Given the description of an element on the screen output the (x, y) to click on. 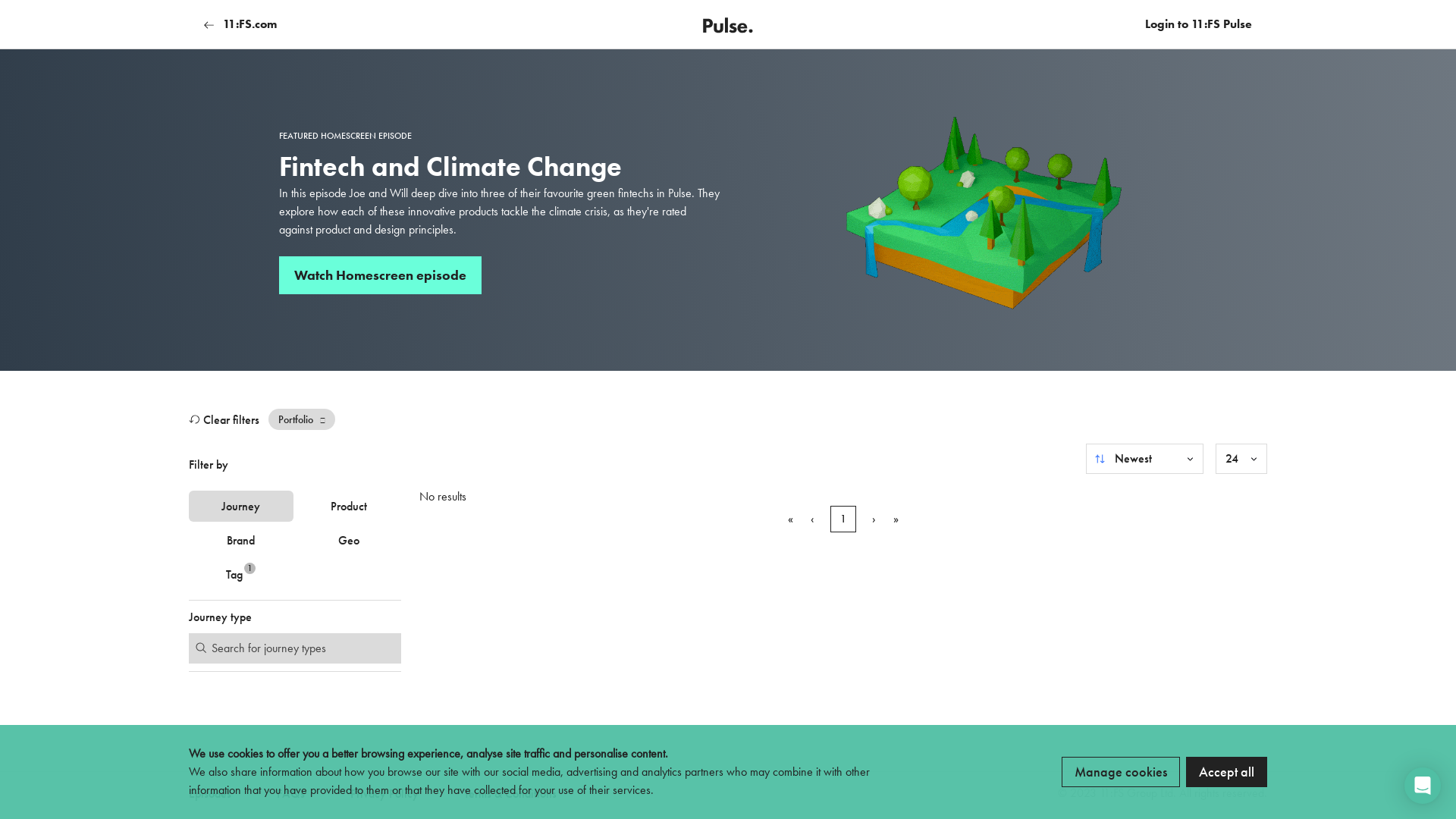
Product Element type: text (348, 505)
Brand Element type: text (240, 539)
Terms & Conditions Element type: text (510, 793)
Login to 11:FS Pulse Element type: text (1198, 24)
Watch Homescreen episode Element type: text (380, 275)
11:FS.com Element type: text (239, 24)
Accept all Element type: text (1226, 771)
Clear filters Element type: text (223, 418)
Manage cookies Element type: text (1120, 771)
1 Element type: text (843, 518)
Geo Element type: text (348, 539)
Journey Element type: text (240, 505)
Tag
1 Element type: text (240, 573)
Episodes Element type: text (209, 793)
Privacy Policy Element type: text (384, 793)
FAQs Element type: text (290, 793)
